Given the description of an element on the screen output the (x, y) to click on. 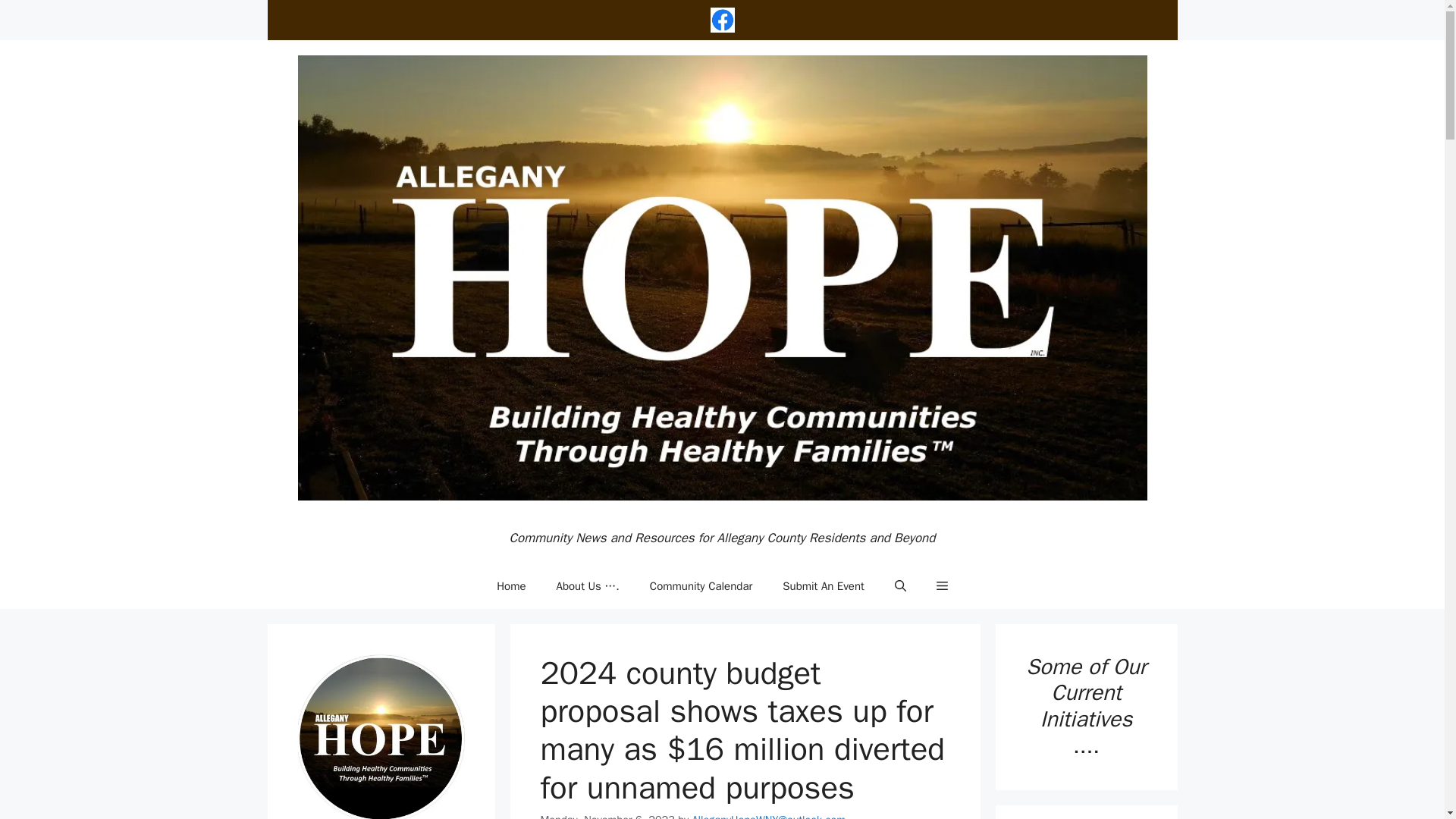
Community Calendar (700, 586)
Home (510, 586)
Submit An Event (823, 586)
